Given the description of an element on the screen output the (x, y) to click on. 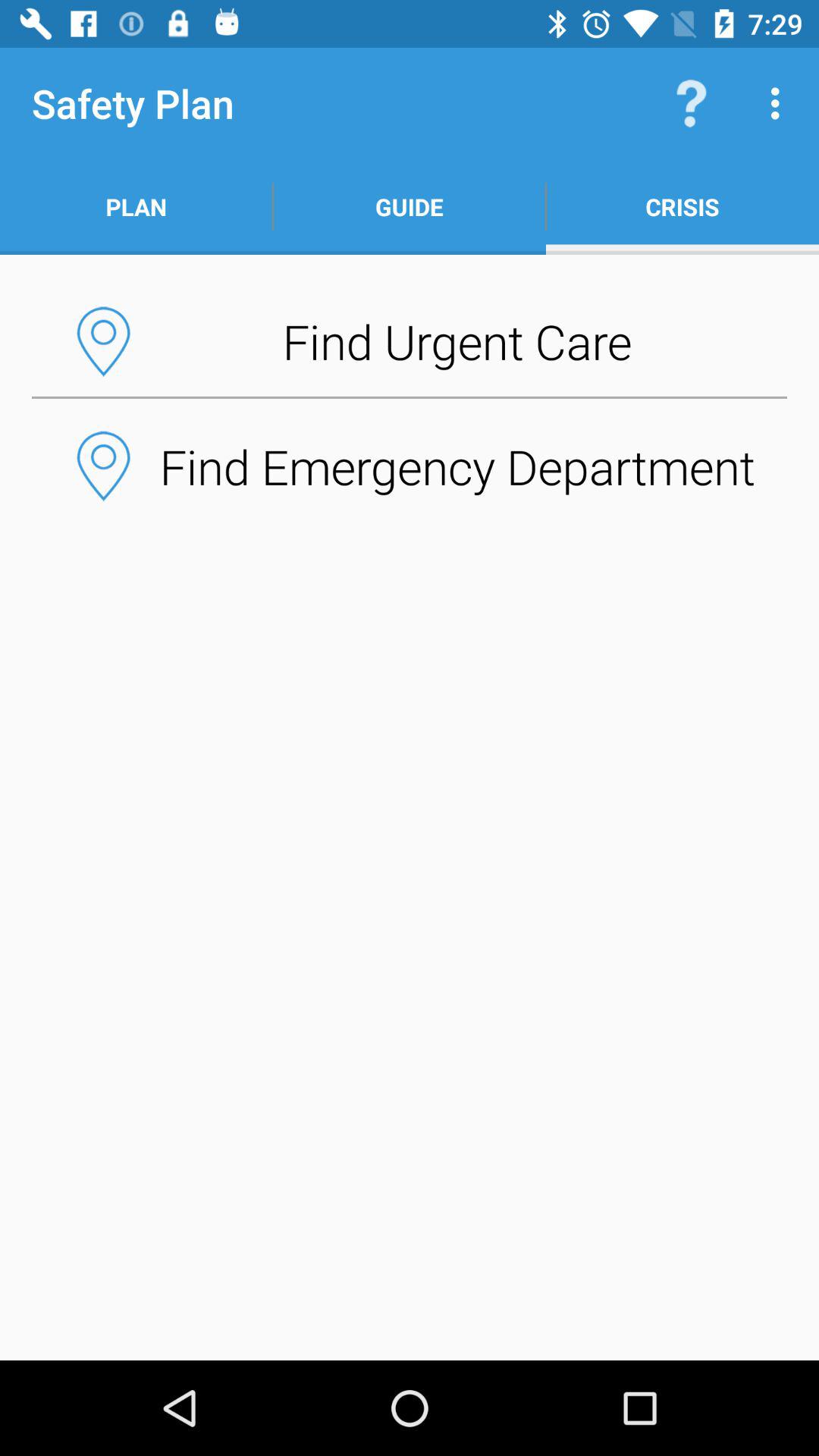
turn on the button above the find urgent care icon (682, 206)
